Given the description of an element on the screen output the (x, y) to click on. 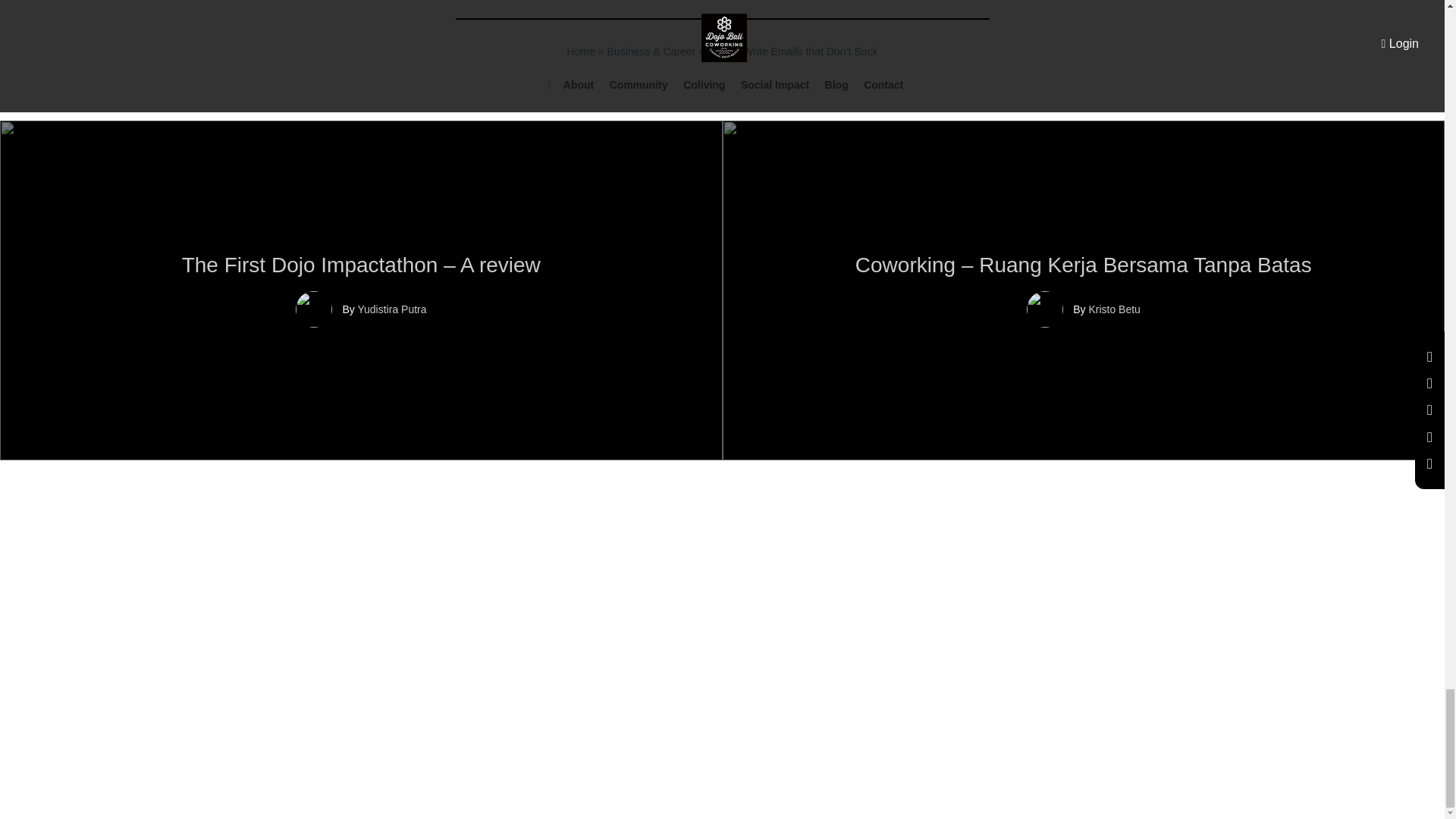
Kristo Betu (1113, 309)
Yudistira Putra (391, 309)
Home (581, 51)
